Given the description of an element on the screen output the (x, y) to click on. 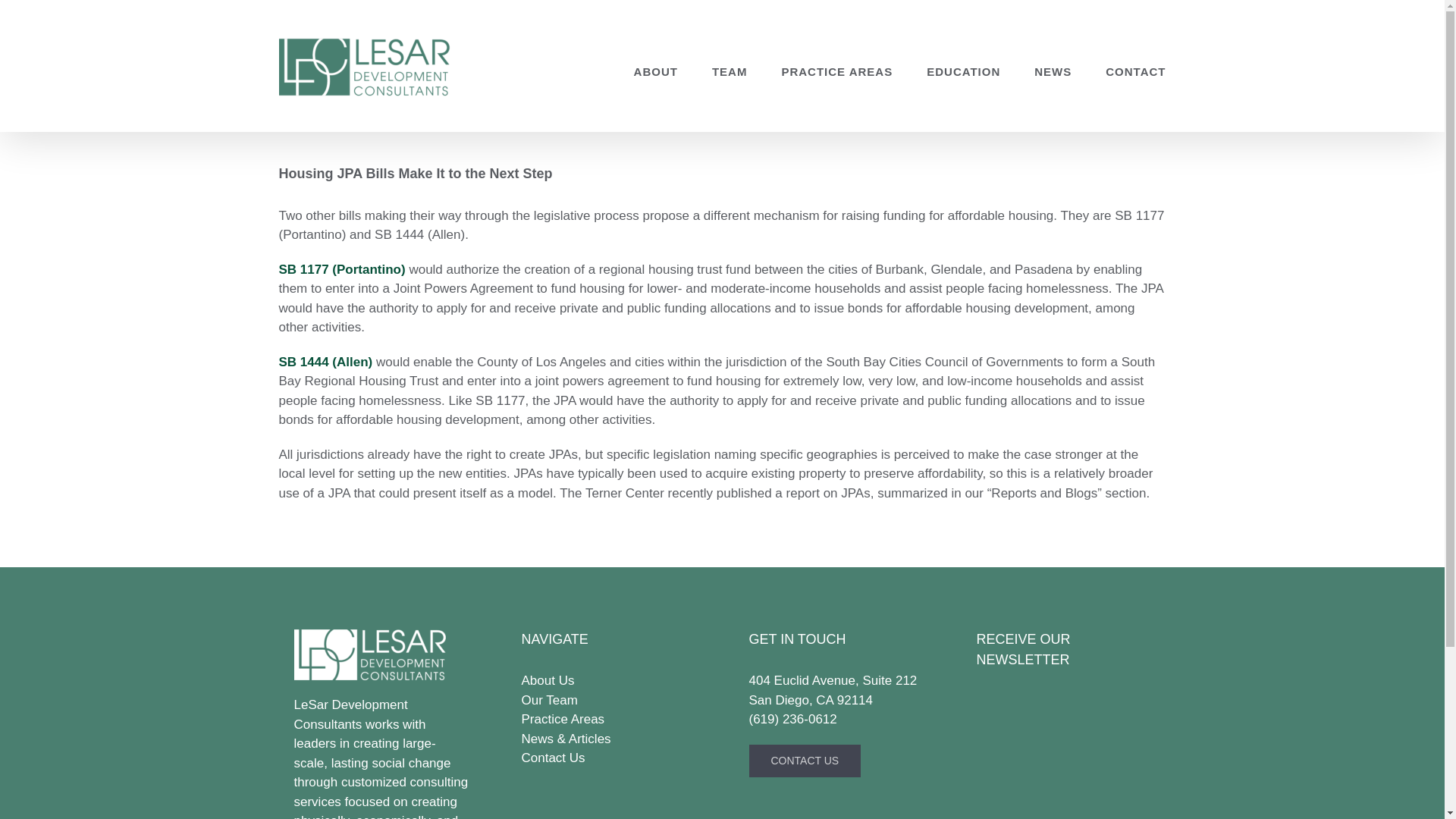
Contact Us (608, 758)
About Us (608, 680)
CONTACT US (805, 760)
Practice Areas (608, 719)
Our Team (608, 700)
PRACTICE AREAS (836, 71)
